Given the description of an element on the screen output the (x, y) to click on. 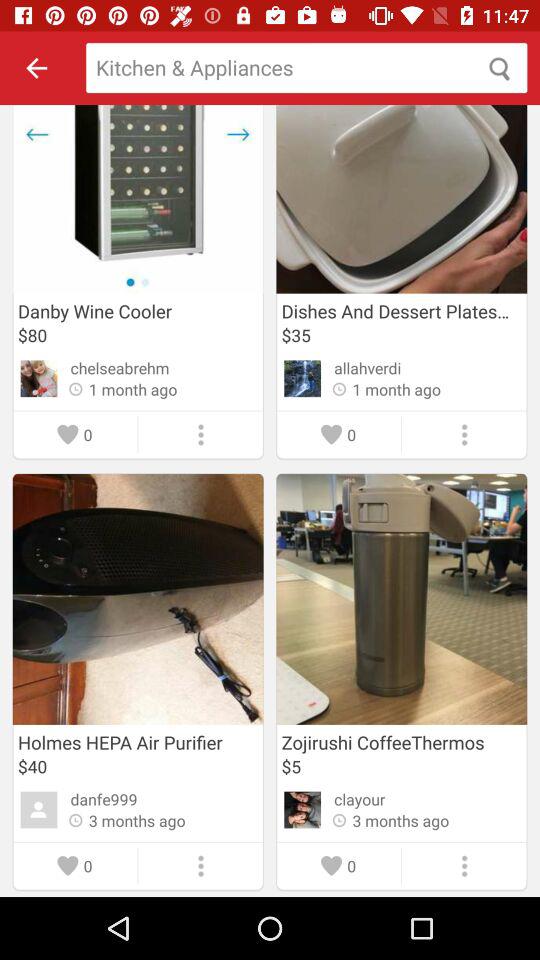
search for products (306, 67)
